Given the description of an element on the screen output the (x, y) to click on. 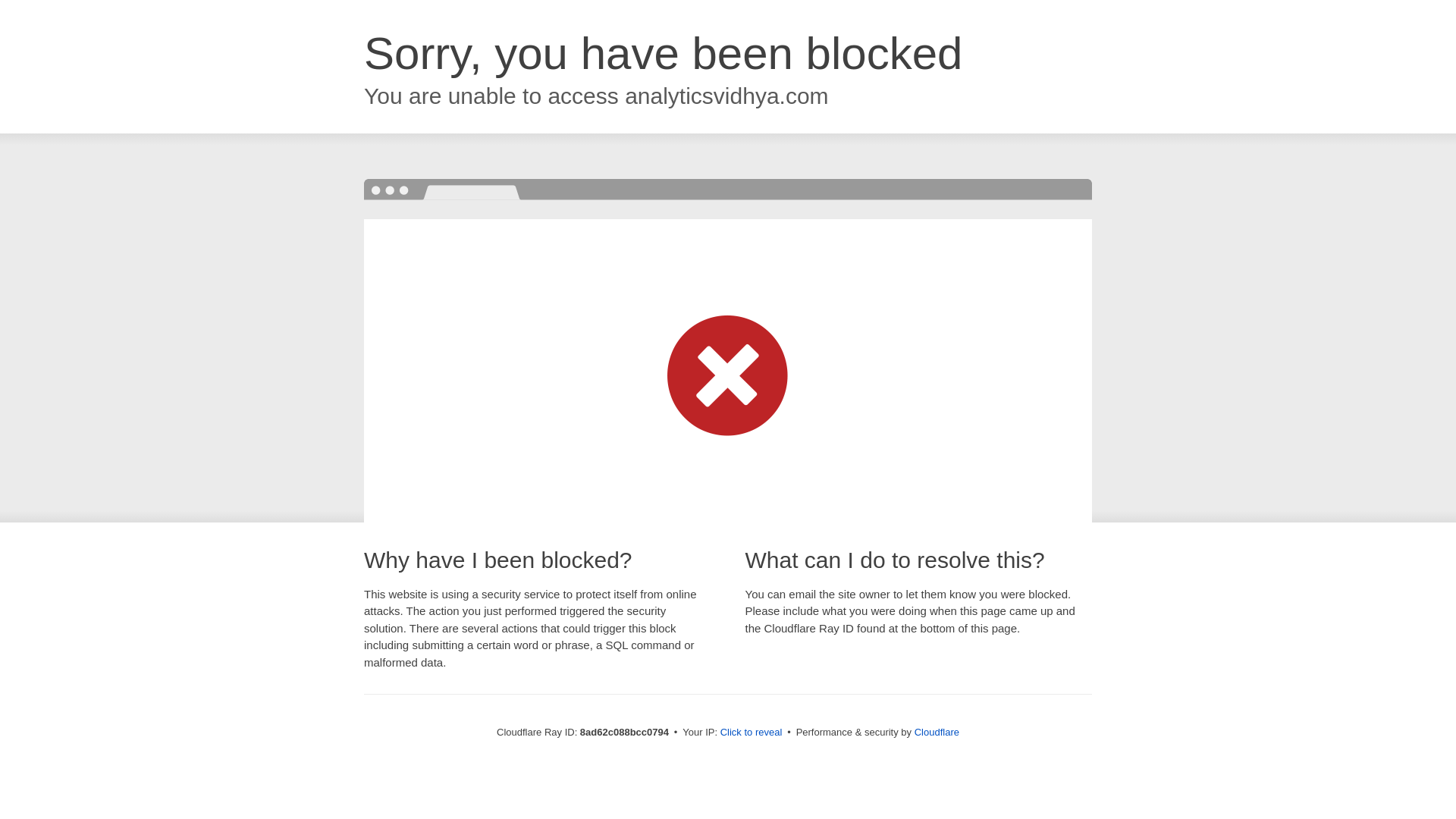
Click to reveal (751, 732)
Cloudflare (936, 731)
